Given the description of an element on the screen output the (x, y) to click on. 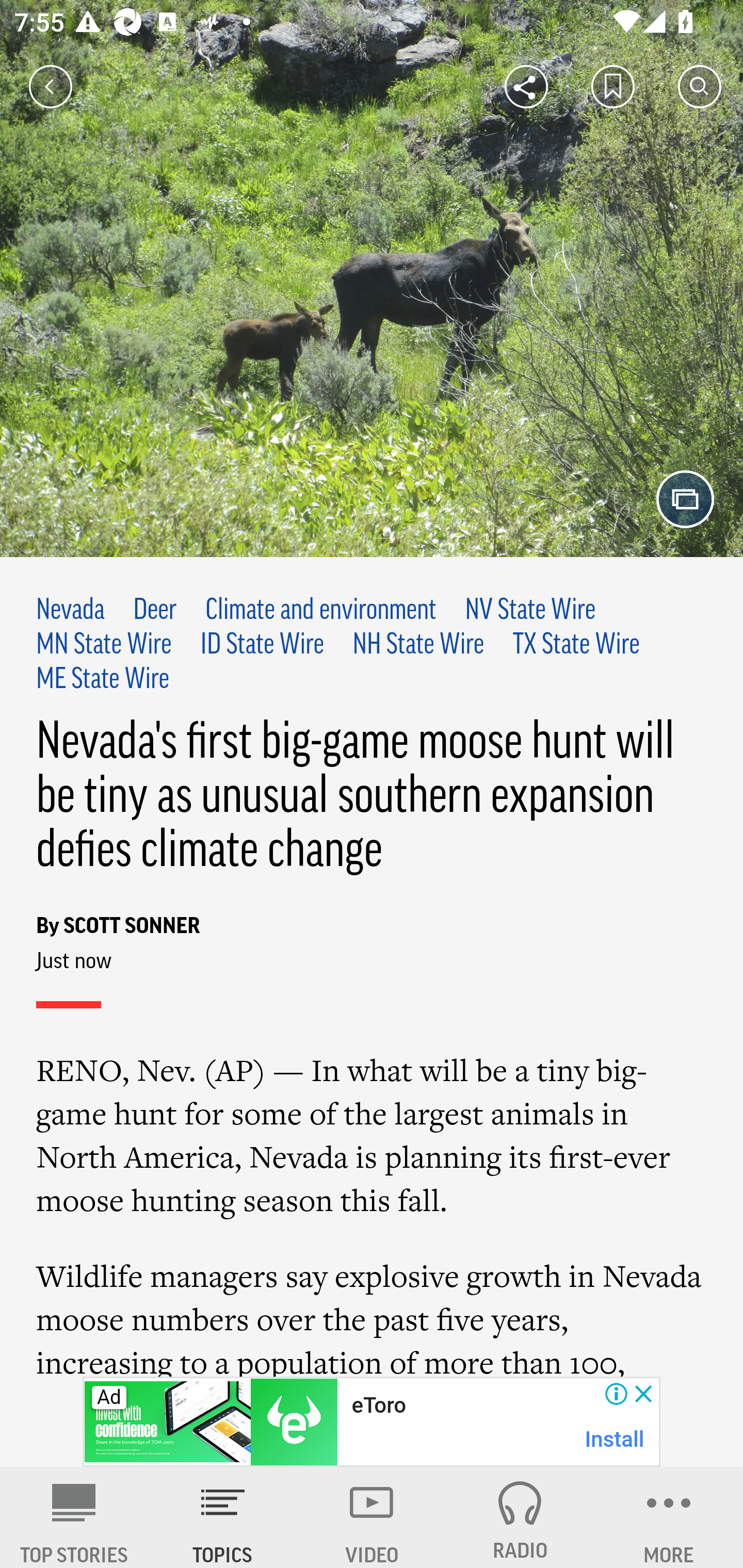
AP News TOP STORIES (74, 1517)
TOPICS (222, 1517)
VIDEO (371, 1517)
RADIO (519, 1517)
MORE (668, 1517)
